Given the description of an element on the screen output the (x, y) to click on. 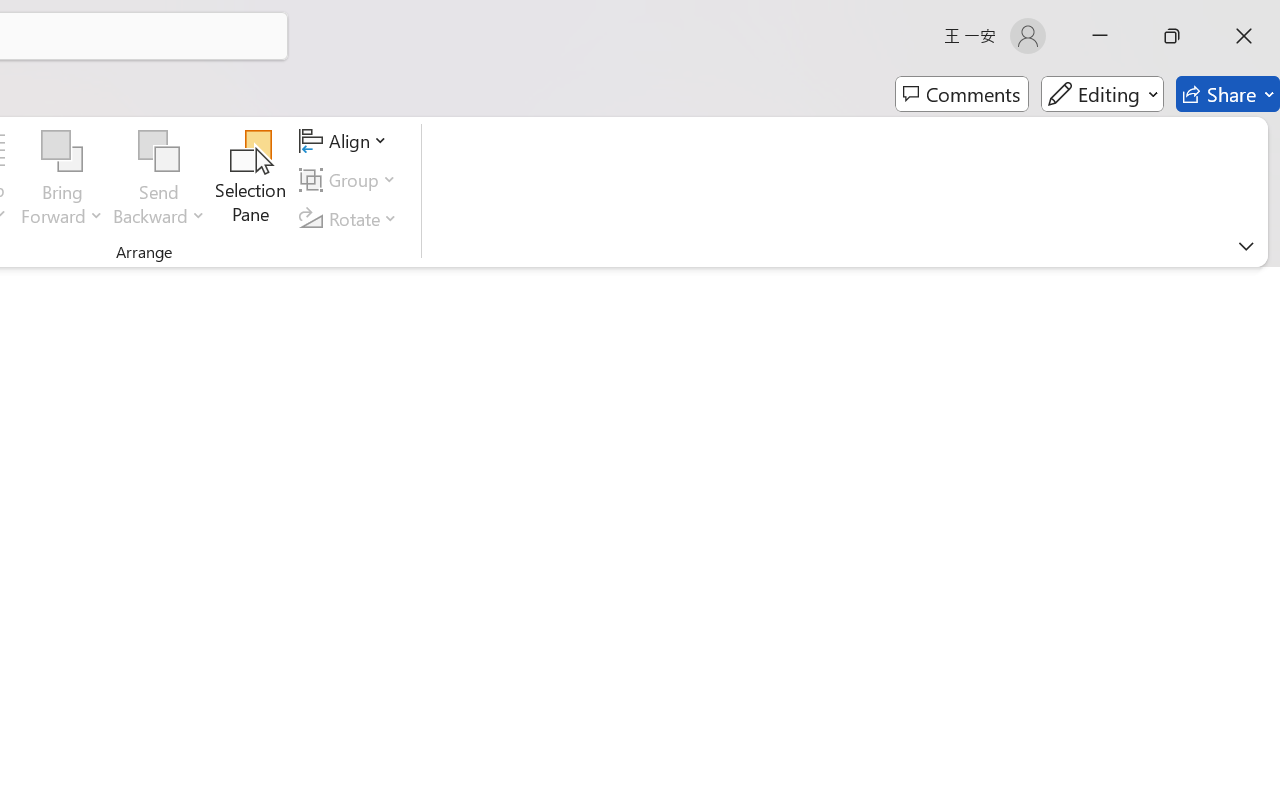
Group (351, 179)
Send Backward (159, 151)
Editing (1101, 94)
More Options (159, 208)
Close (1244, 36)
Send Backward (159, 179)
Ribbon Display Options (1246, 245)
Minimize (1099, 36)
Rotate (351, 218)
Selection Pane... (251, 179)
Bring Forward (62, 151)
Align (346, 141)
Bring Forward (62, 179)
Restore Down (1172, 36)
